Given the description of an element on the screen output the (x, y) to click on. 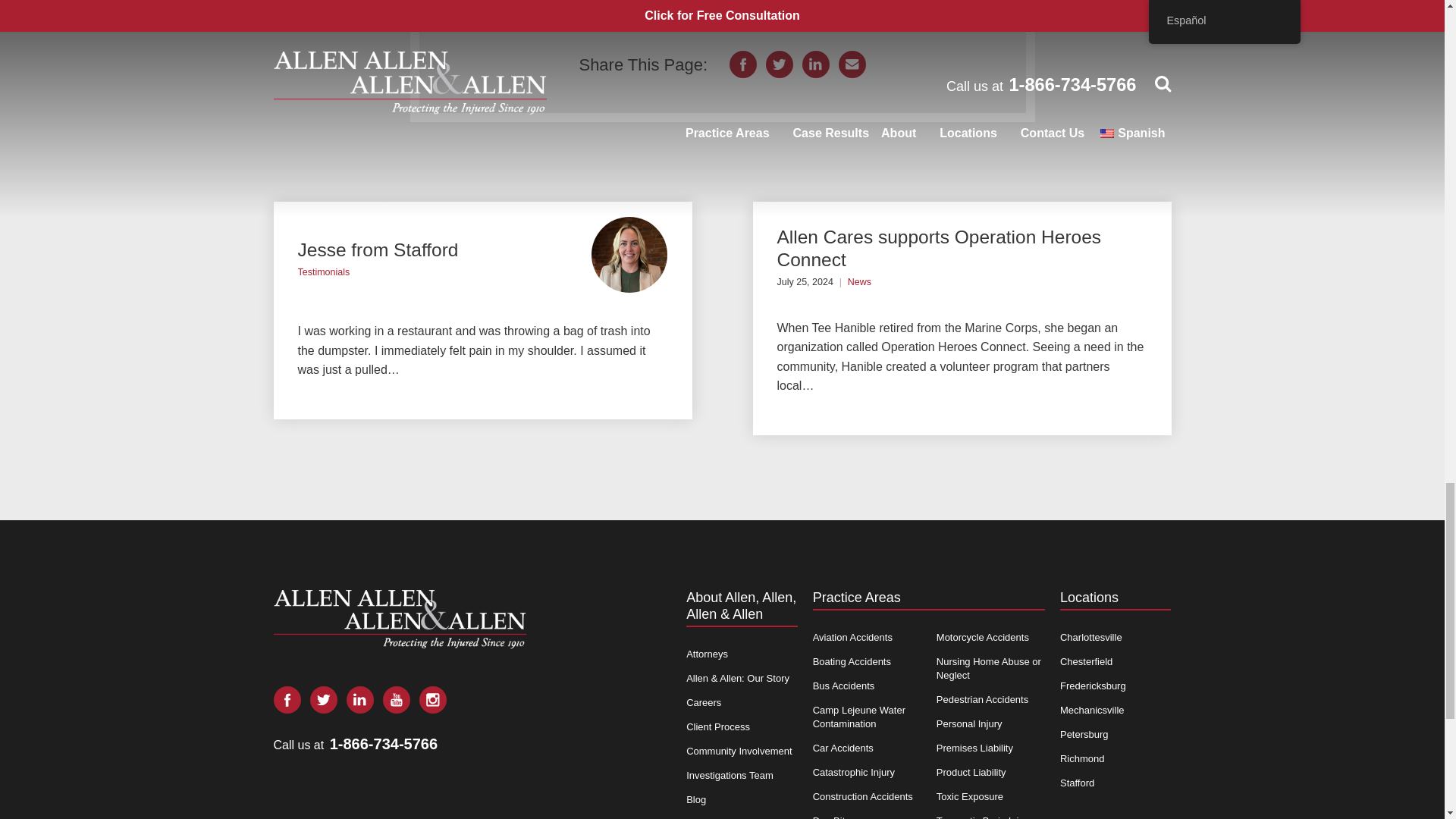
twitter (779, 64)
linkedin (815, 64)
facebook (742, 64)
email (852, 64)
facebook (287, 699)
